Given the description of an element on the screen output the (x, y) to click on. 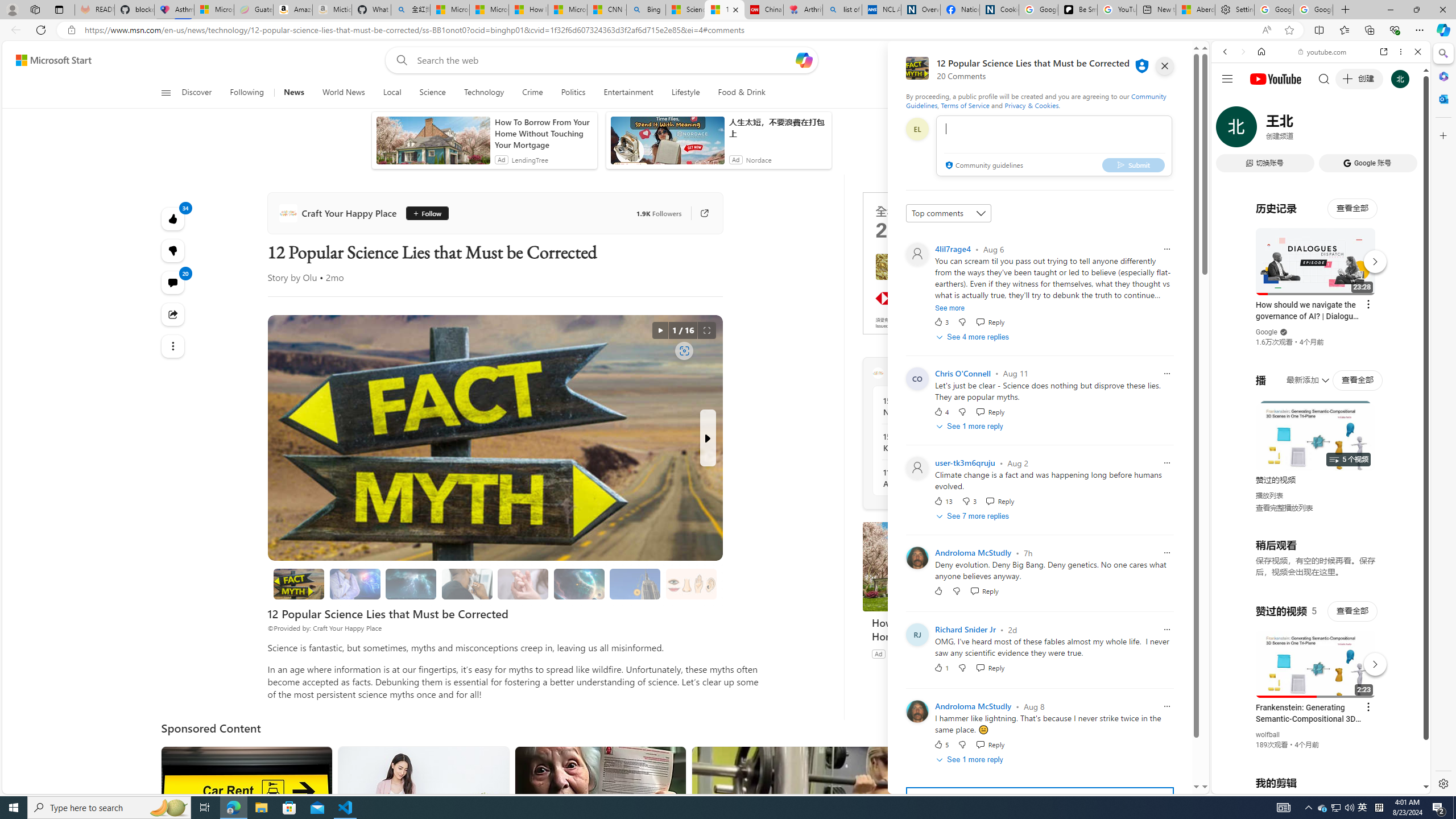
Space Myths (579, 583)
Craft Your Happy Place (339, 212)
Chris O'Connell (962, 373)
Class: button-glyph (165, 92)
Class: qc-adchoices-link top-right  (1027, 196)
Trailer #2 [HD] (1320, 337)
Cookies (999, 9)
Lightning Myths (411, 583)
